Given the description of an element on the screen output the (x, y) to click on. 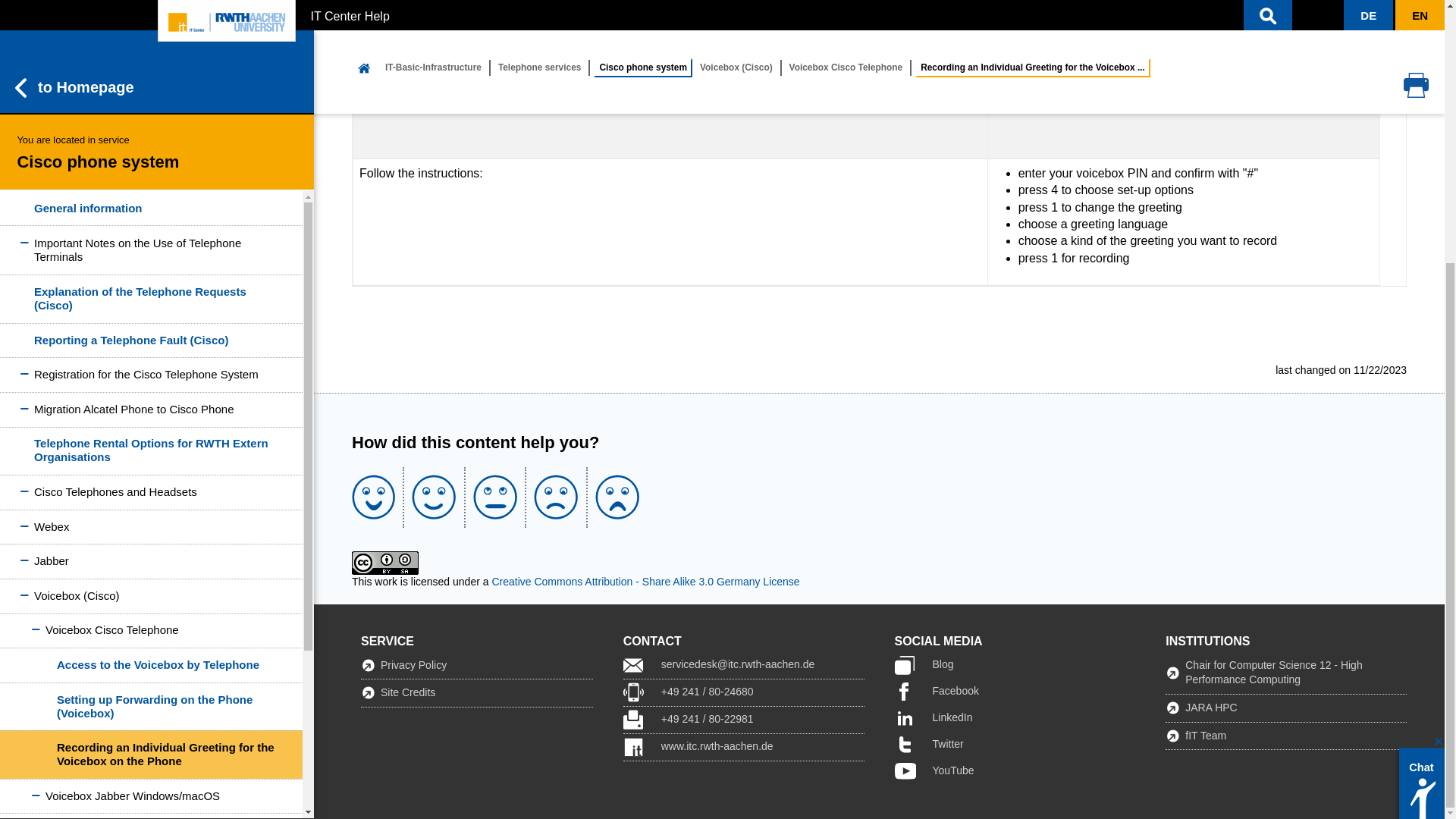
Telephone Rental Options for RWTH Extern Organisations (151, 72)
